Given the description of an element on the screen output the (x, y) to click on. 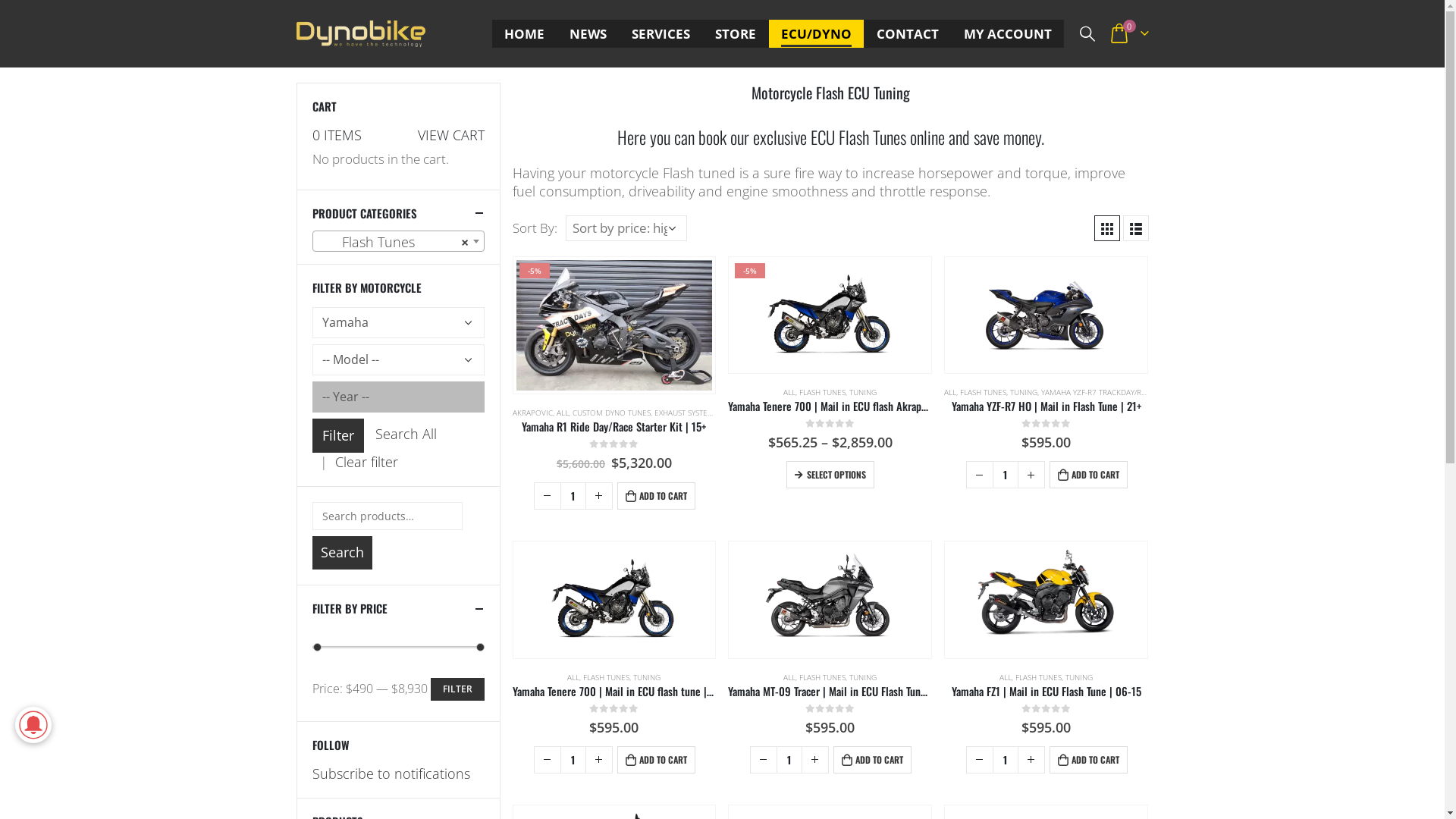
+ Element type: text (1030, 474)
- Element type: text (979, 474)
+ Element type: text (598, 495)
Search Element type: text (342, 552)
+ Element type: text (814, 759)
-5% Element type: text (614, 325)
ALL Element type: text (950, 391)
Clear filter Element type: text (366, 461)
TUNING Element type: text (1023, 391)
- Element type: text (547, 759)
- Element type: text (763, 759)
Subscribe to notifications Element type: text (391, 773)
YAMAHA YZF-R7 TRACKDAY/RACE PACKAGE Element type: text (1115, 391)
NEWS Element type: text (587, 33)
Search All Element type: text (405, 433)
FLASH TUNES Element type: text (983, 391)
ALL Element type: text (562, 412)
Yamaha MT-09 Tracer | Mail in ECU Flash Tune | 15+ Element type: text (829, 691)
TUNING Element type: text (862, 391)
Yamaha FZ1 | Mail in ECU Flash Tune | 06-15 Element type: text (1046, 691)
HOME Element type: text (524, 33)
FLASH TUNES Element type: text (822, 676)
+ Element type: text (1030, 759)
-5% Element type: text (830, 315)
TUNING Element type: text (862, 676)
- Element type: text (547, 495)
ALL Element type: text (789, 676)
FLASH TUNES Element type: text (606, 676)
ECU/DYNO Element type: text (815, 33)
ALL Element type: text (1005, 676)
TUNING Element type: text (646, 676)
Filter Element type: text (338, 435)
Yamaha Tenere 700 | Mail in ECU flash tune | 19+ Element type: text (614, 691)
CUSTOM DYNO TUNES Element type: text (610, 412)
AKRAPOVIC Element type: text (532, 412)
FILTER Element type: text (457, 688)
FLASH TUNES Element type: text (822, 391)
+ Element type: text (598, 759)
MY ACCOUNT Element type: text (1007, 33)
Grid View Element type: hover (1106, 228)
FLASH TUNES Element type: text (1038, 676)
Yamaha R1 Ride Day/Race Starter Kit | 15+ Element type: text (614, 426)
TUNING Element type: text (1078, 676)
CONTACT Element type: text (907, 33)
SERVICES Element type: text (660, 33)
VIEW CART Element type: text (450, 134)
ALL Element type: text (789, 391)
Yamaha YZF-R7 HO | Mail in Flash Tune | 21+ Element type: text (1046, 406)
EXHAUST SYSTEMS AND SLIP-ON MUFFLERS Element type: text (728, 412)
List View Element type: hover (1135, 228)
- Element type: text (979, 759)
ALL Element type: text (573, 676)
STORE Element type: text (735, 33)
